Given the description of an element on the screen output the (x, y) to click on. 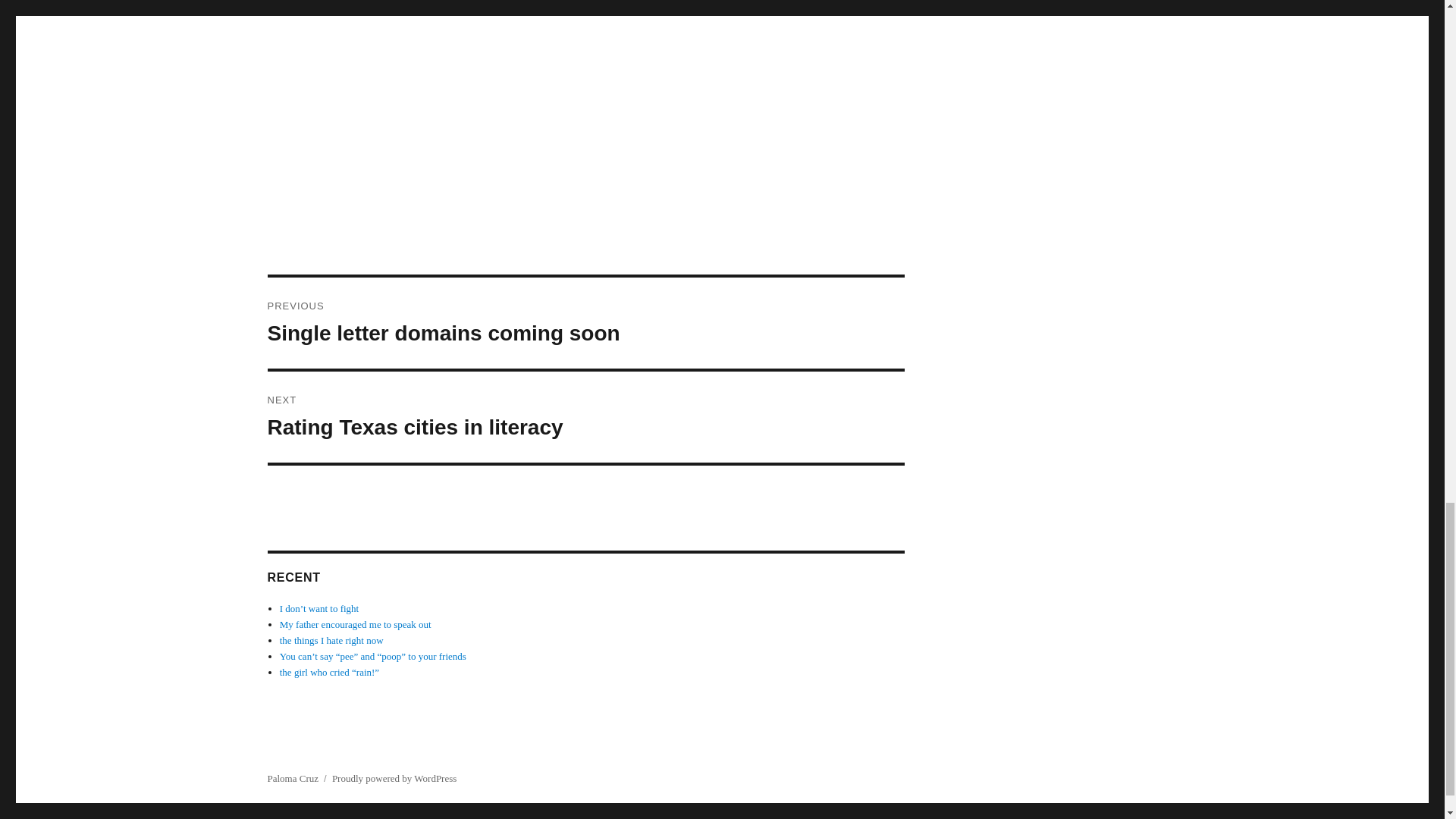
Comment Form (585, 94)
the things I hate right now (331, 640)
My father encouraged me to speak out (585, 322)
